Given the description of an element on the screen output the (x, y) to click on. 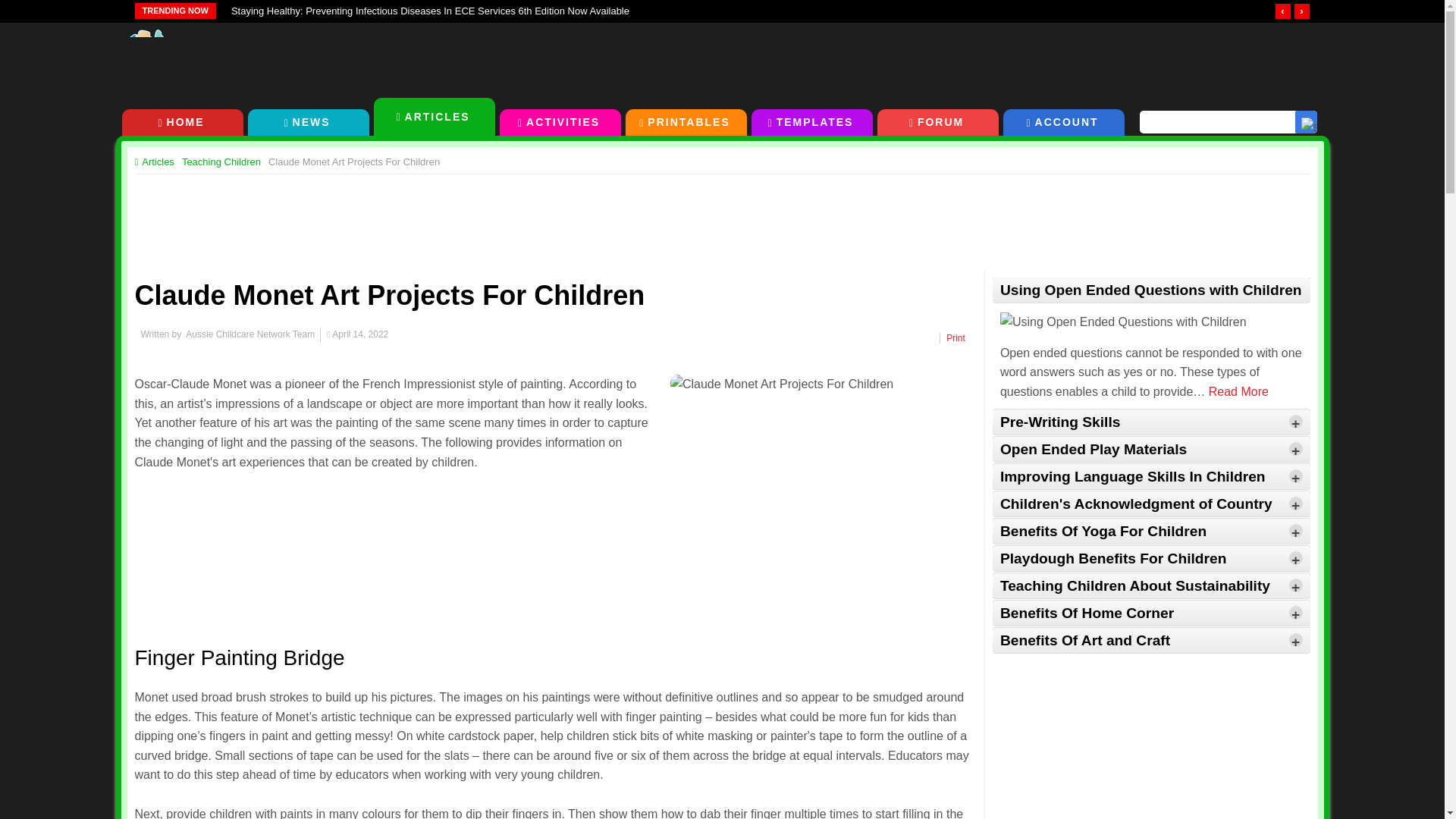
Read More (1238, 391)
TEMPLATES (811, 121)
NEWS (307, 121)
HOME (181, 121)
Print (955, 337)
Teaching Children (221, 161)
PRINTABLES (684, 121)
ACCOUNT (1063, 121)
Articles (157, 161)
ACTIVITIES (559, 121)
